Given the description of an element on the screen output the (x, y) to click on. 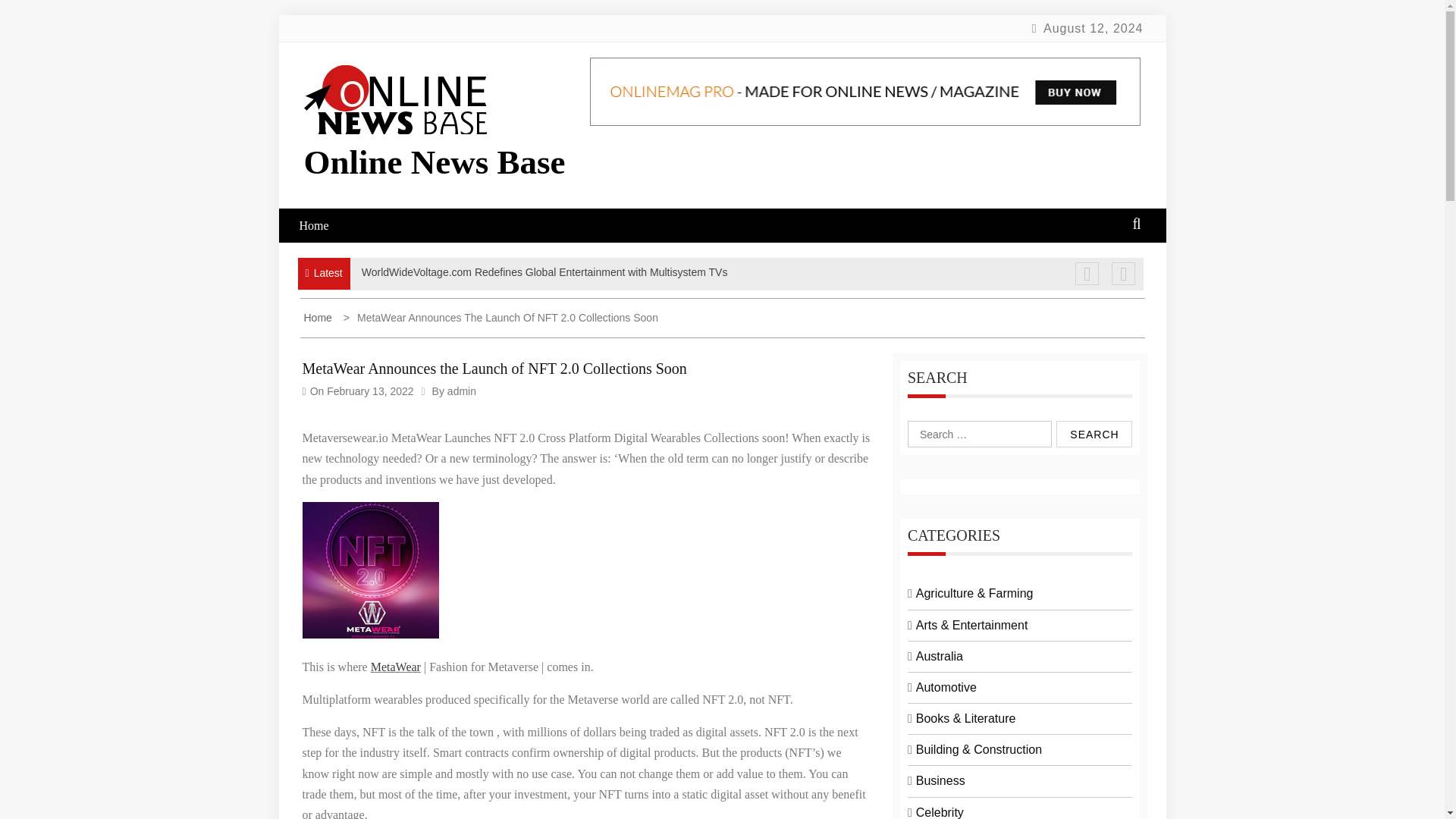
Search (1094, 433)
Home (323, 225)
Celebrity (939, 812)
Automotive (945, 686)
admin (461, 390)
Search (1094, 433)
Home (318, 317)
February 13, 2022 (369, 390)
Online News Base (433, 161)
Australia (938, 656)
